Given the description of an element on the screen output the (x, y) to click on. 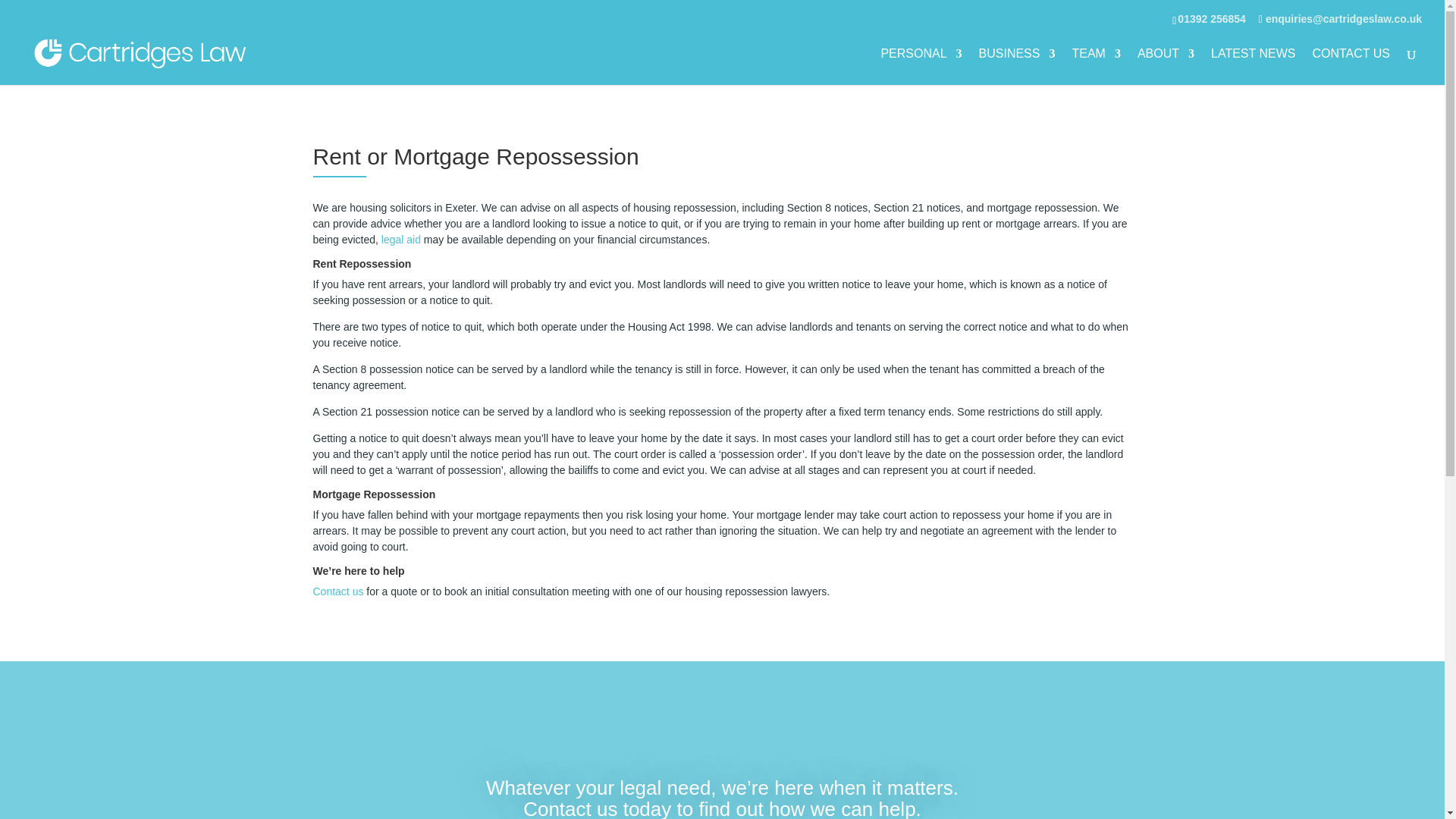
ABOUT (1165, 66)
CONTACT US (1350, 66)
BUSINESS (1016, 66)
PERSONAL (920, 66)
LATEST NEWS (1253, 66)
TEAM (1095, 66)
